Given the description of an element on the screen output the (x, y) to click on. 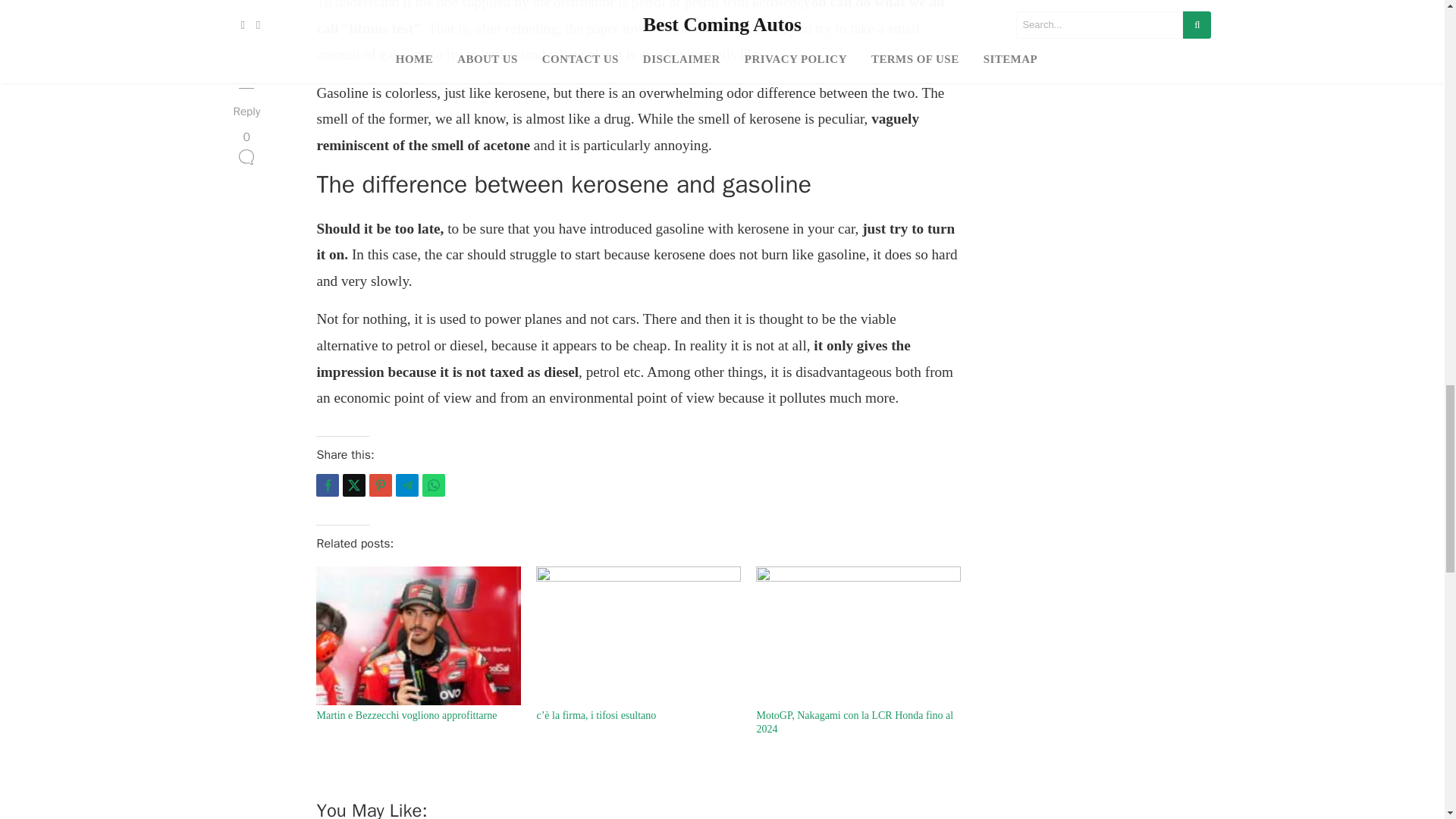
Whatsapp (433, 485)
Tweet this (353, 485)
Permalink to: MotoGP, Nakagami con la LCR Honda fino al 2024 (854, 722)
Pin this (380, 485)
Permalink to: Martin e Bezzecchi vogliono approfittarne (418, 635)
Telegram Share (407, 485)
MotoGP, Nakagami con la LCR Honda fino al 2024 (854, 722)
Permalink to: MotoGP, Nakagami con la LCR Honda fino al 2024 (857, 635)
Martin e Bezzecchi vogliono approfittarne (405, 715)
Share this (327, 485)
